Given the description of an element on the screen output the (x, y) to click on. 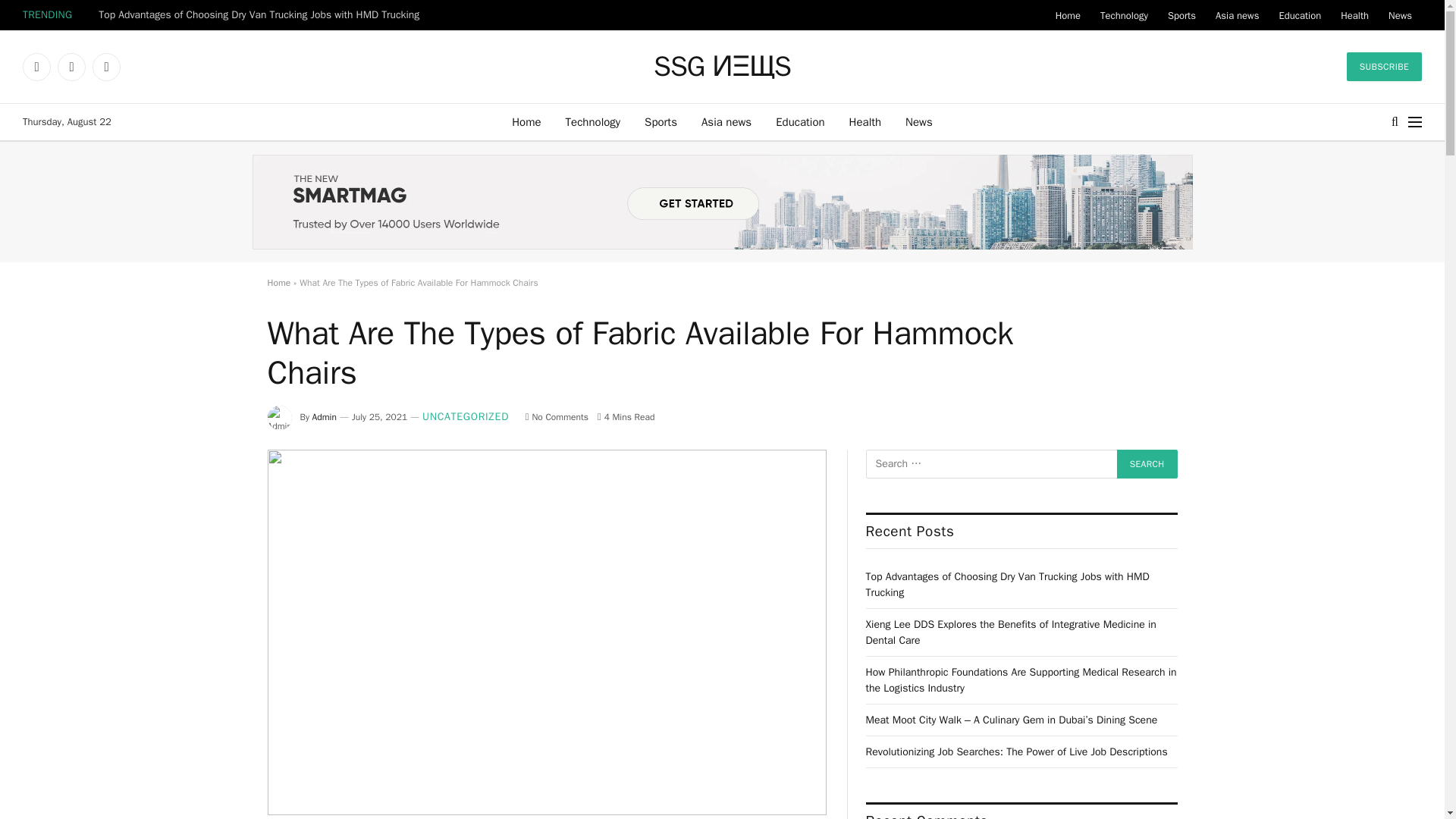
Technology (593, 122)
Education (798, 122)
News (918, 122)
Posts by Admin (324, 417)
Health (1354, 15)
Facebook (36, 67)
Asia news (725, 122)
Education (1299, 15)
Search (1146, 463)
Instagram (106, 67)
